Given the description of an element on the screen output the (x, y) to click on. 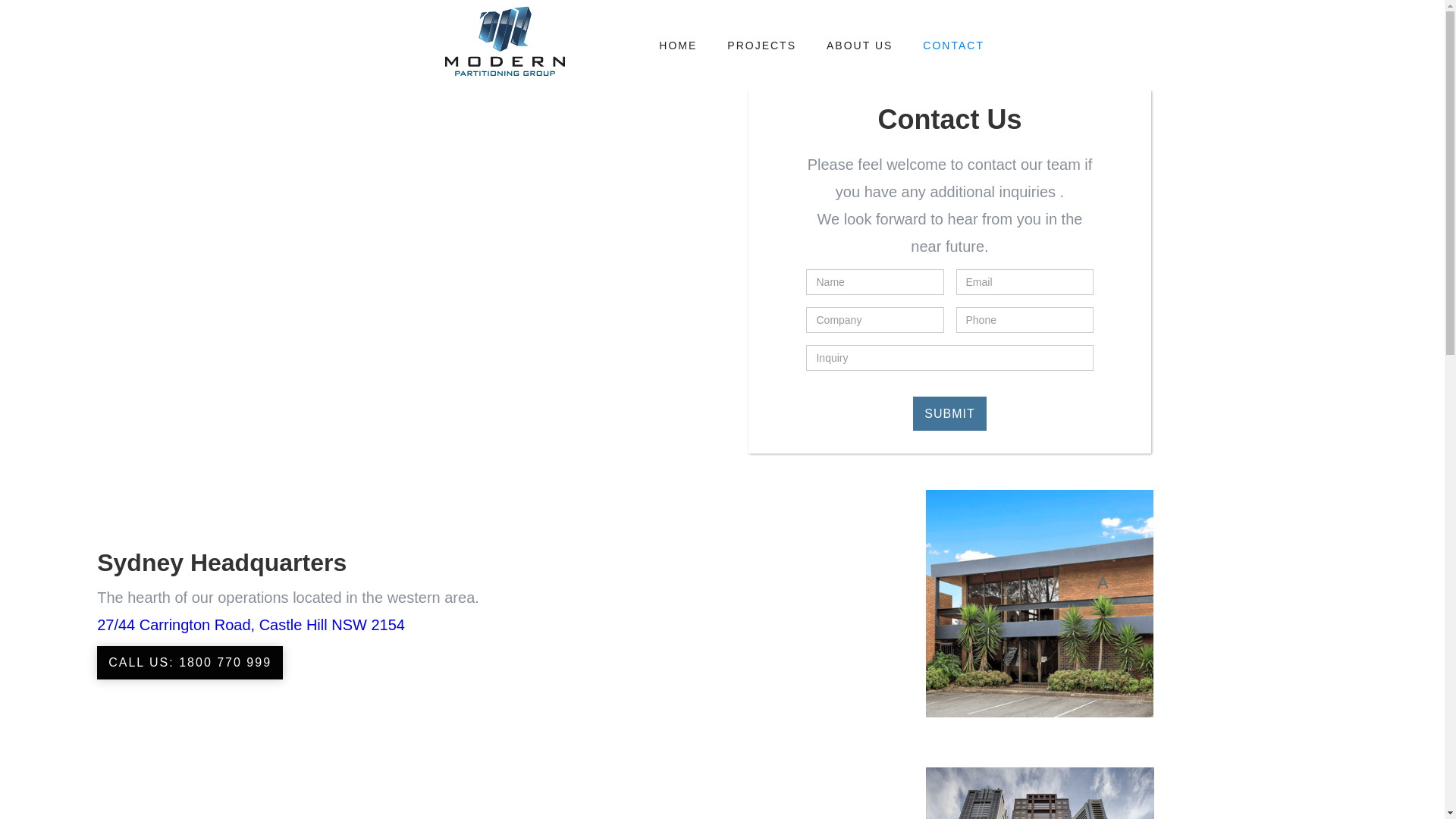
CALL US: 1800 770 999 Element type: text (189, 662)
CONTACT Element type: text (953, 45)
ABOUT US Element type: text (859, 45)
27/44 Carrington Road, Castle Hill NSW 2154 Element type: text (250, 624)
Submit Element type: text (949, 413)
HOME Element type: text (677, 45)
PROJECTS Element type: text (761, 45)
